Given the description of an element on the screen output the (x, y) to click on. 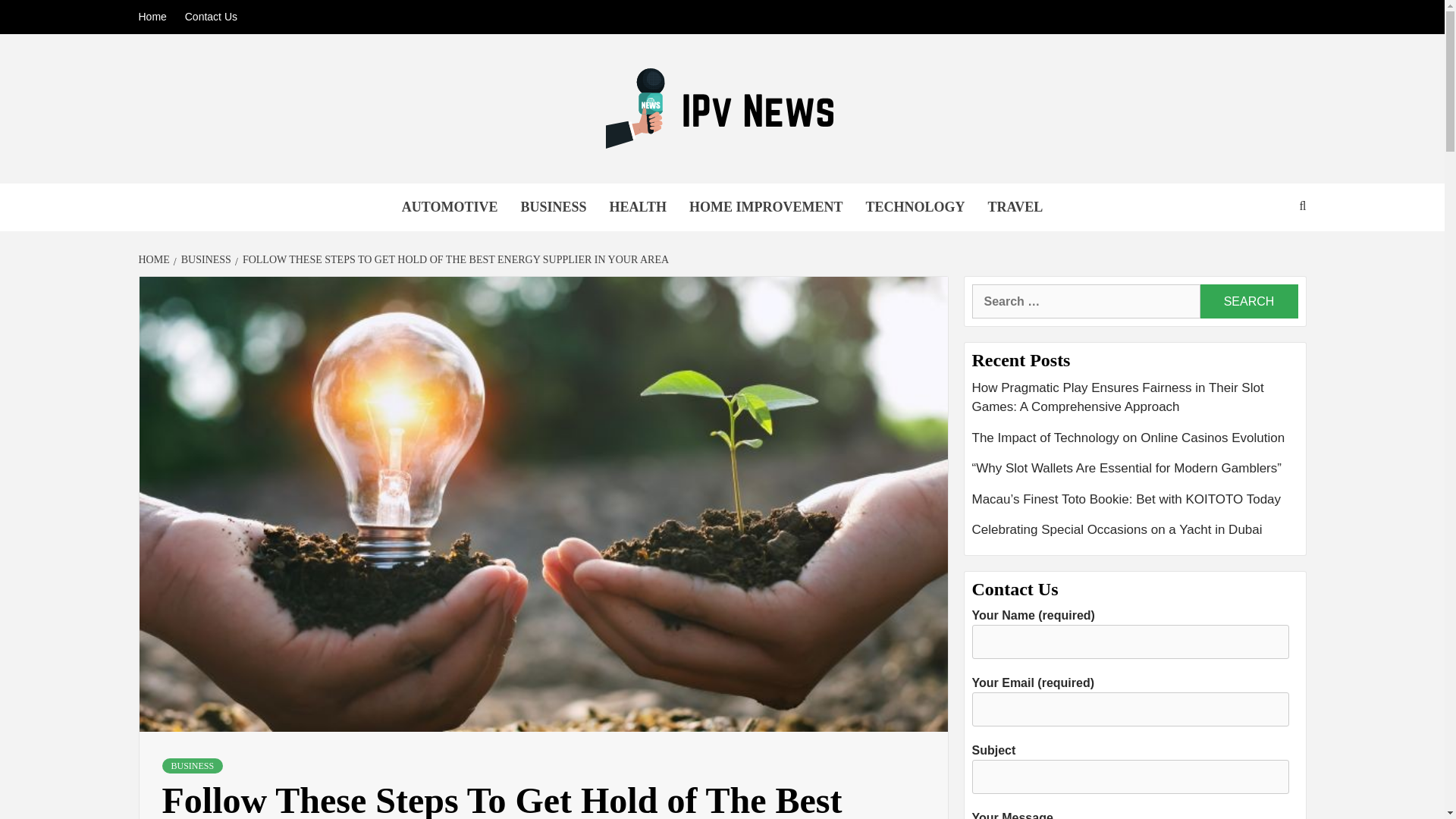
IPV NEWS (327, 188)
The Impact of Technology on Online Casinos Evolution (1135, 443)
Search (1248, 301)
TECHNOLOGY (914, 206)
Home (155, 17)
BUSINESS (203, 259)
BUSINESS (553, 206)
Contact Us (210, 17)
TRAVEL (1014, 206)
BUSINESS (192, 765)
HOME IMPROVEMENT (766, 206)
Search (1248, 301)
HEALTH (638, 206)
AUTOMOTIVE (449, 206)
